Given the description of an element on the screen output the (x, y) to click on. 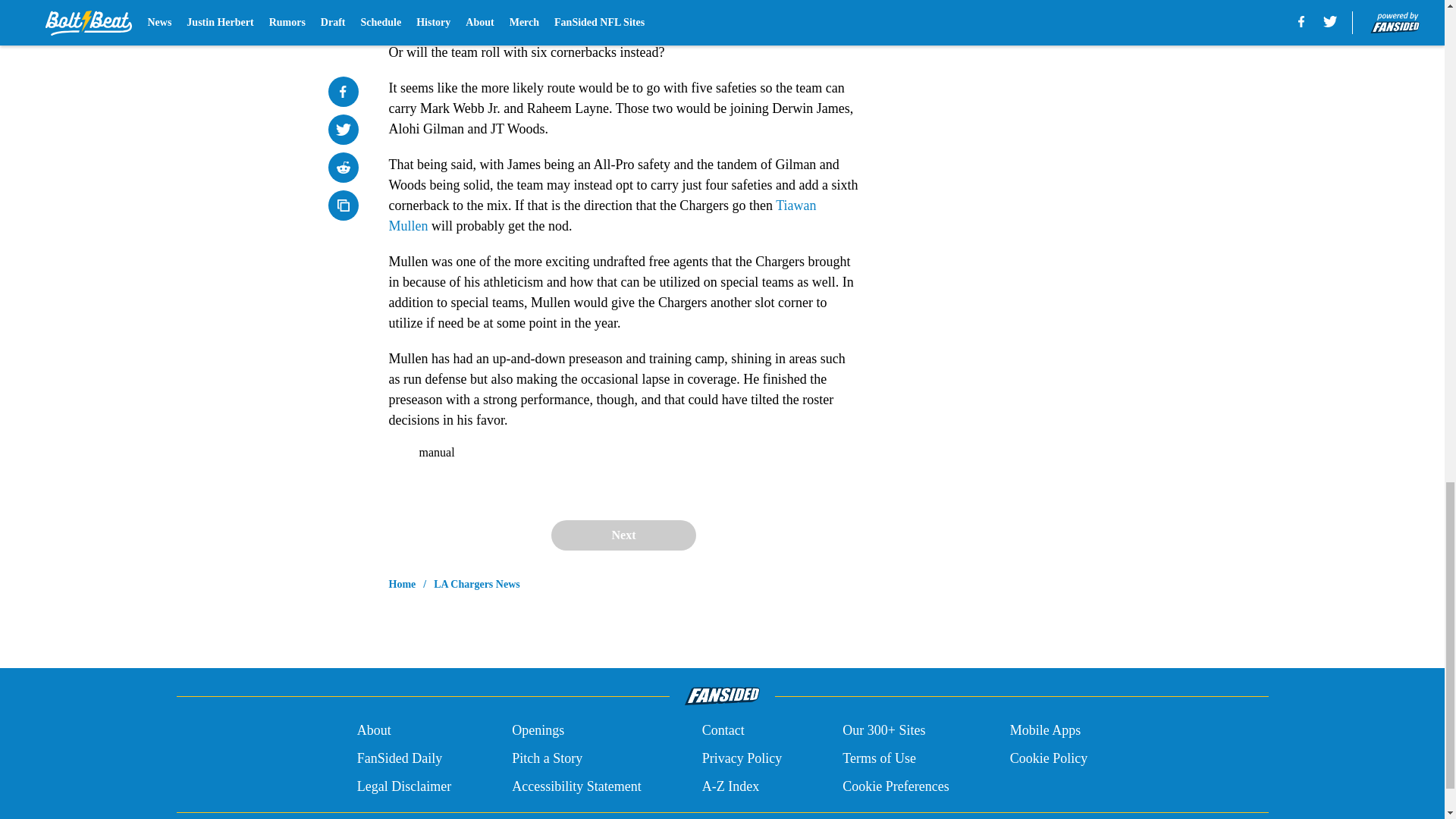
FanSided Daily (399, 758)
About (373, 730)
Tiawan Mullen (601, 215)
LA Chargers News (476, 584)
Pitch a Story (547, 758)
Legal Disclaimer (403, 786)
Home (401, 584)
Openings (538, 730)
Contact (722, 730)
Terms of Use (879, 758)
